Given the description of an element on the screen output the (x, y) to click on. 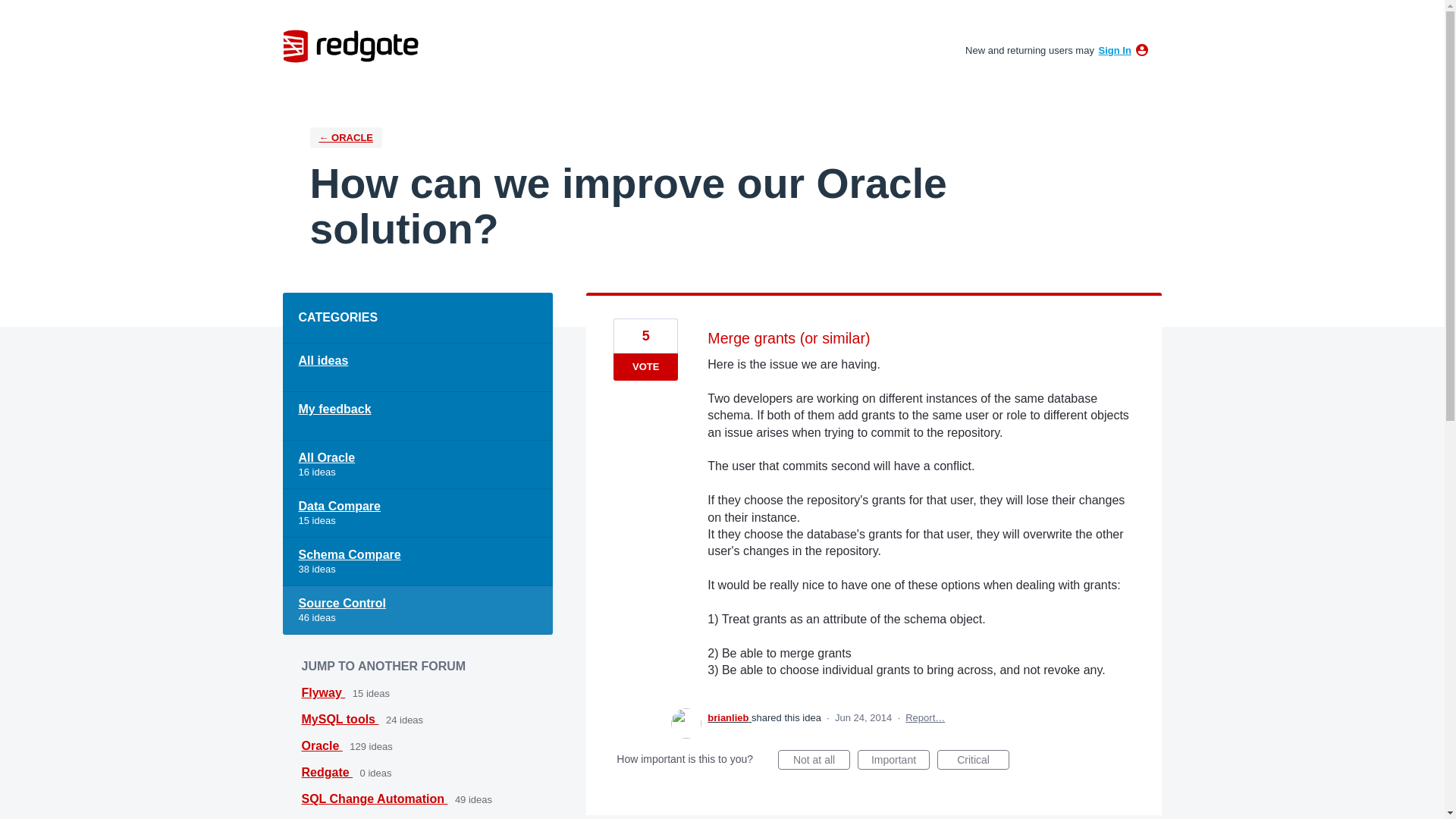
View all ideas in SQL Change Automation (374, 798)
View all ideas in category Source Control (417, 610)
My feedback (417, 416)
Source Control (417, 610)
Sign In (1115, 50)
SQL Change Automation (374, 798)
Redgate (327, 771)
View all ideas in category Schema Compare (417, 561)
View all ideas in Flyway (323, 692)
Customer Feedback for Redgate (350, 45)
View all ideas in Oracle (321, 745)
View all ideas in category Data Compare (417, 512)
View all ideas in Redgate (327, 771)
View all ideas in category All Oracle (417, 464)
Oracle (321, 745)
